Given the description of an element on the screen output the (x, y) to click on. 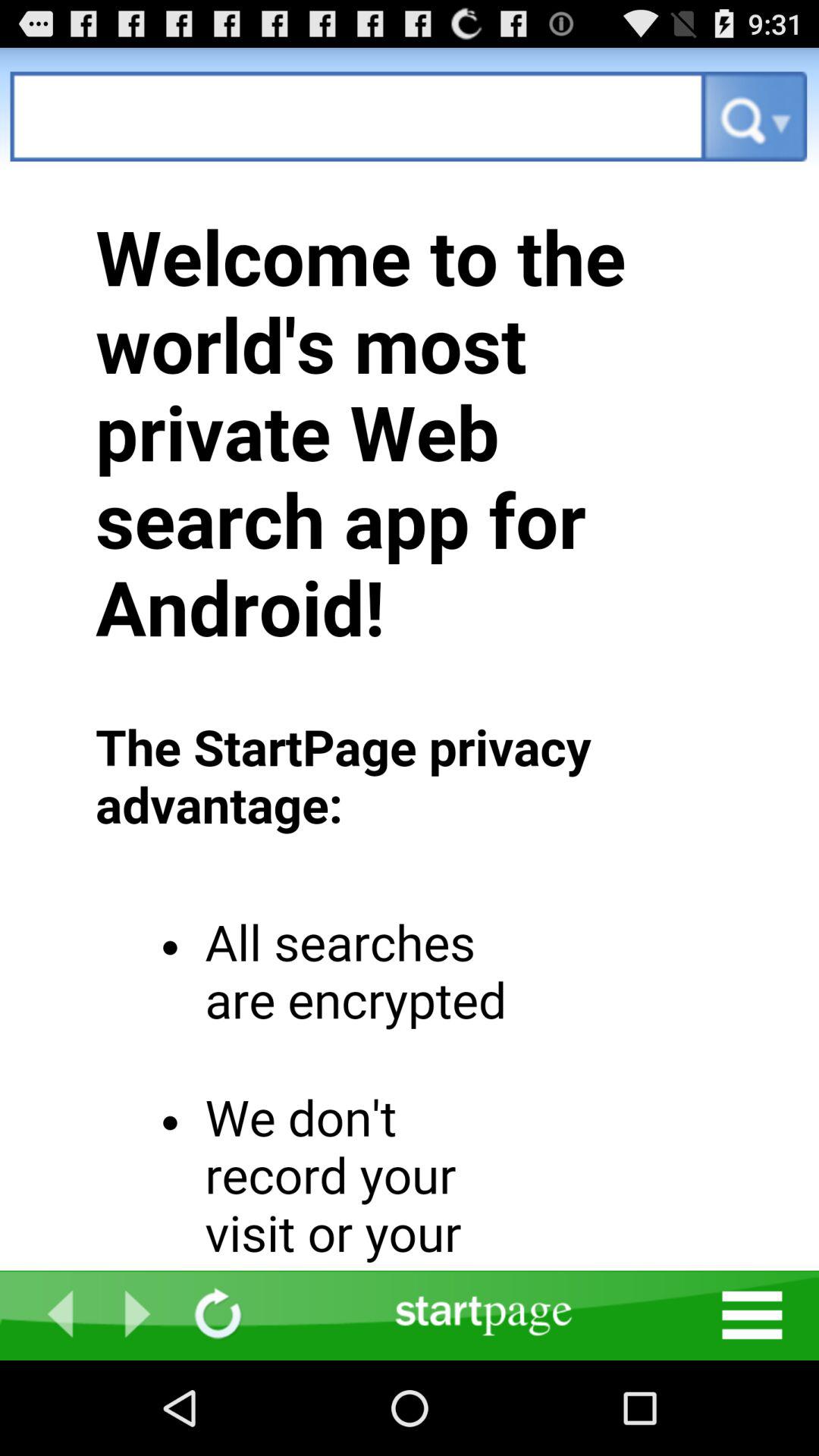
enter search query (357, 116)
